Given the description of an element on the screen output the (x, y) to click on. 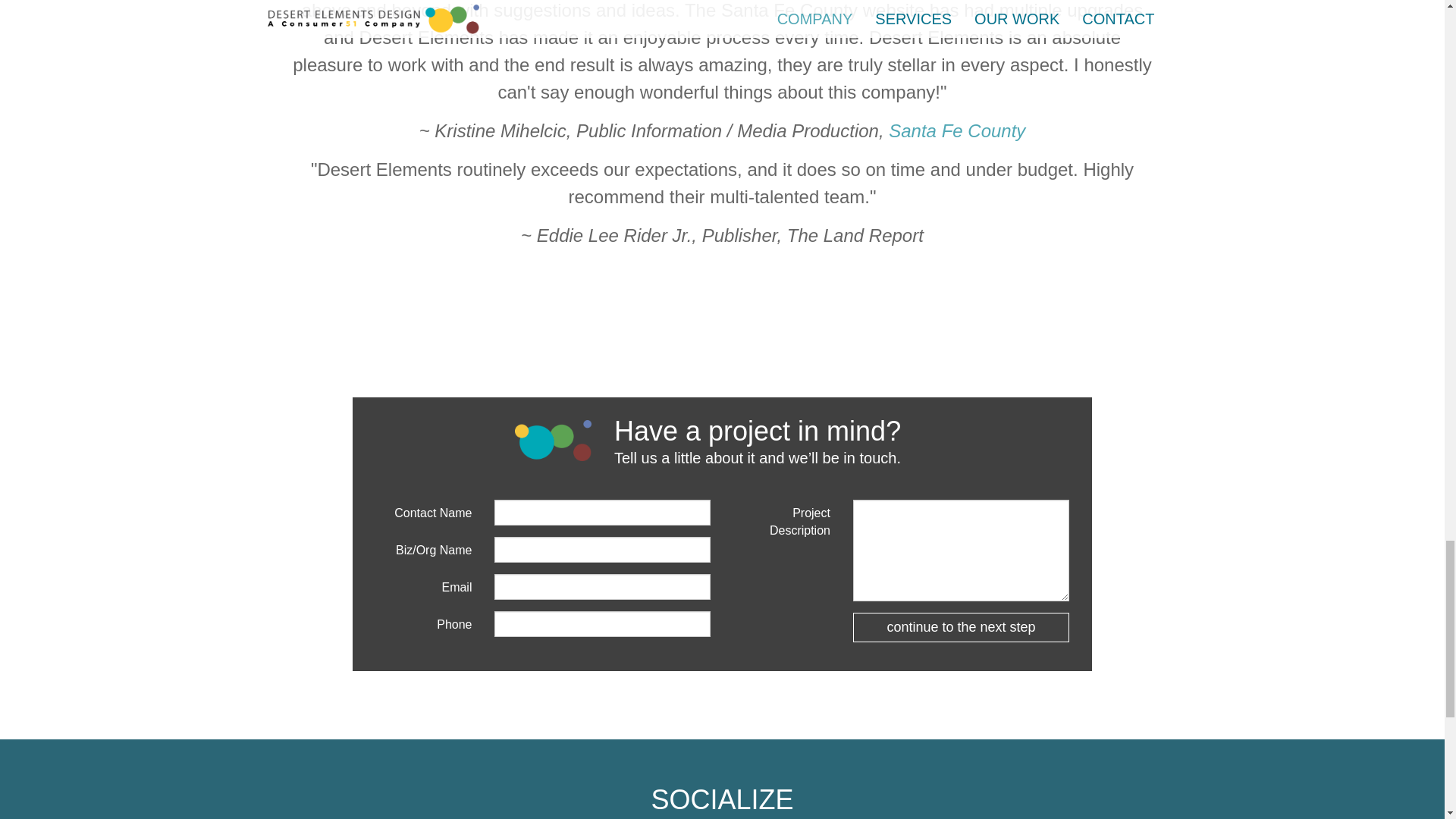
Santa Fe County (956, 130)
continue to the next step (960, 627)
